Given the description of an element on the screen output the (x, y) to click on. 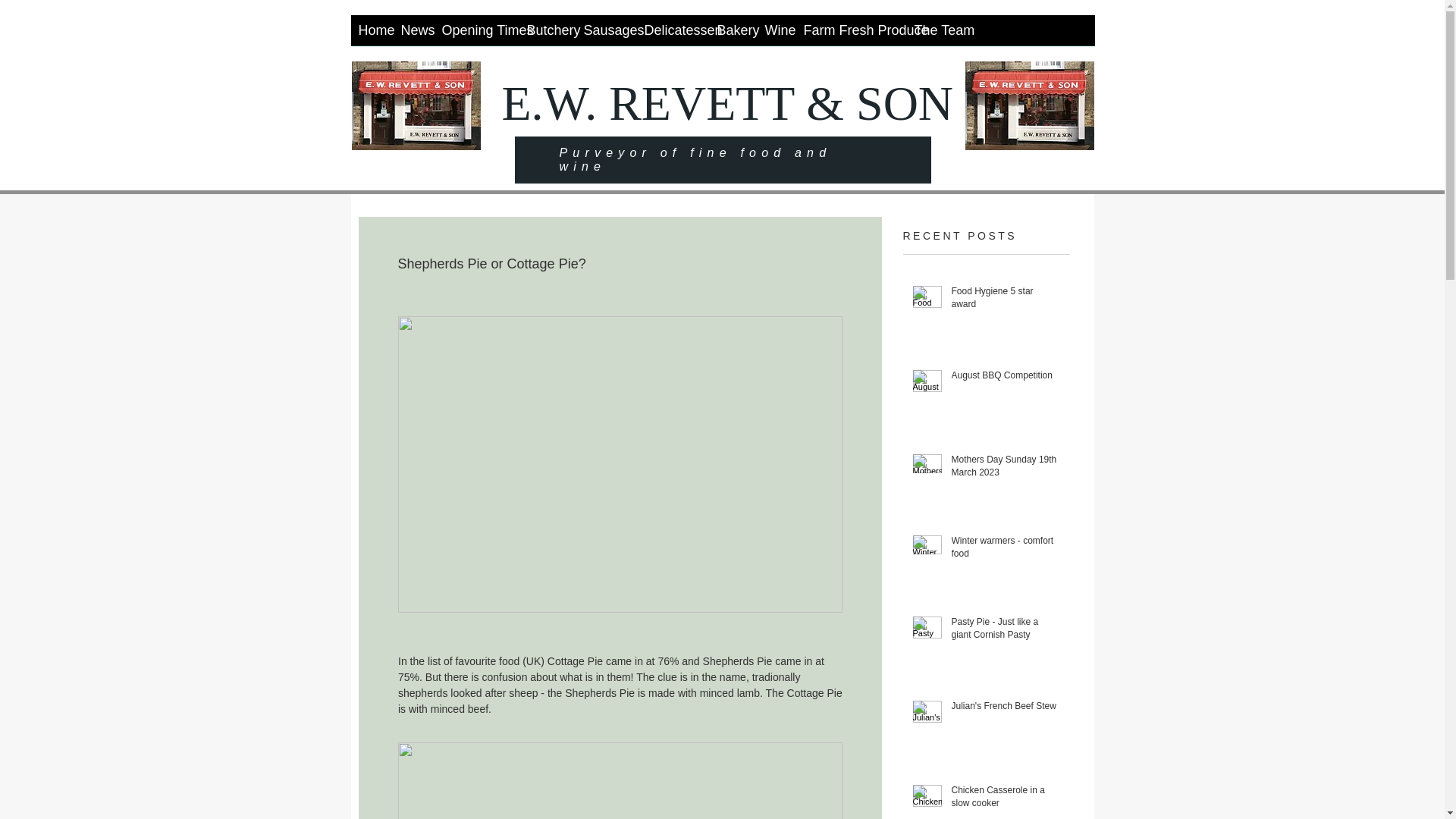
The shop fron in Wickham Market (1028, 105)
The shop fron in Wickham Market (416, 105)
Bakery (733, 35)
Chicken Casserole in a slow cooker (1004, 799)
August BBQ Competition (1004, 378)
News (413, 35)
Pasty Pie - Just like a giant Cornish Pasty (1004, 631)
Home (371, 35)
Sausages (606, 35)
The Team (937, 35)
Butchery (546, 35)
Winter warmers - comfort food (1004, 550)
Opening Times (475, 35)
Purveyor of fine food and wine (695, 159)
Julian's French Beef Stew (1004, 709)
